Given the description of an element on the screen output the (x, y) to click on. 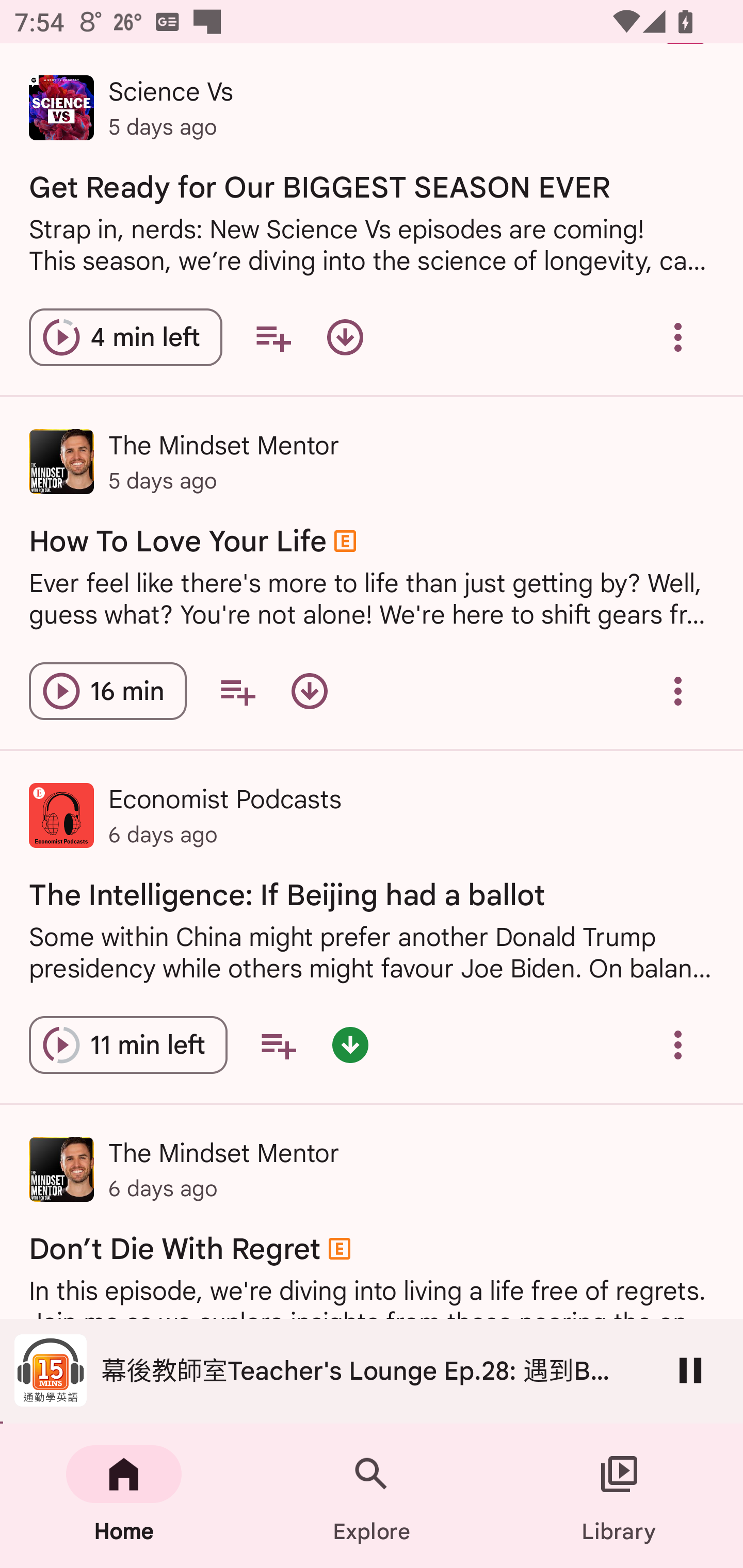
Add to your queue (273, 337)
Download episode (345, 337)
Overflow menu (677, 337)
Play episode How To Love Your Life 16 min (107, 690)
Add to your queue (237, 690)
Download episode (309, 690)
Overflow menu (677, 690)
Add to your queue (278, 1044)
Episode downloaded - double tap for options (350, 1044)
Overflow menu (677, 1044)
Pause (690, 1370)
Explore (371, 1495)
Library (619, 1495)
